Given the description of an element on the screen output the (x, y) to click on. 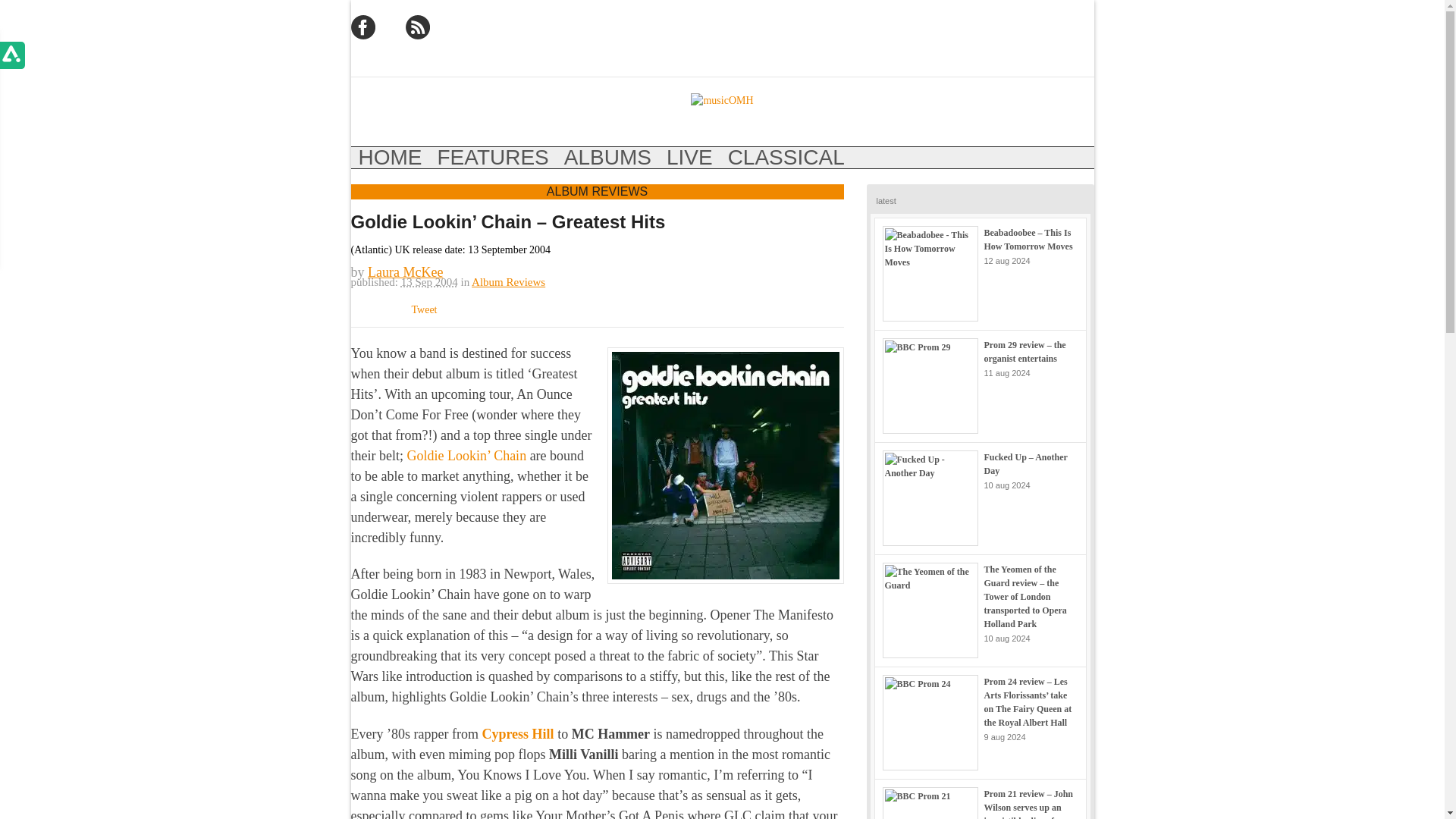
Album Reviews (507, 282)
album reviews (607, 157)
latest (886, 200)
Laura McKee (405, 272)
HOME (389, 157)
live music reviews (689, 157)
Tweet (423, 308)
features and interviews (492, 157)
Feed (416, 27)
CLASSICAL (785, 157)
